Given the description of an element on the screen output the (x, y) to click on. 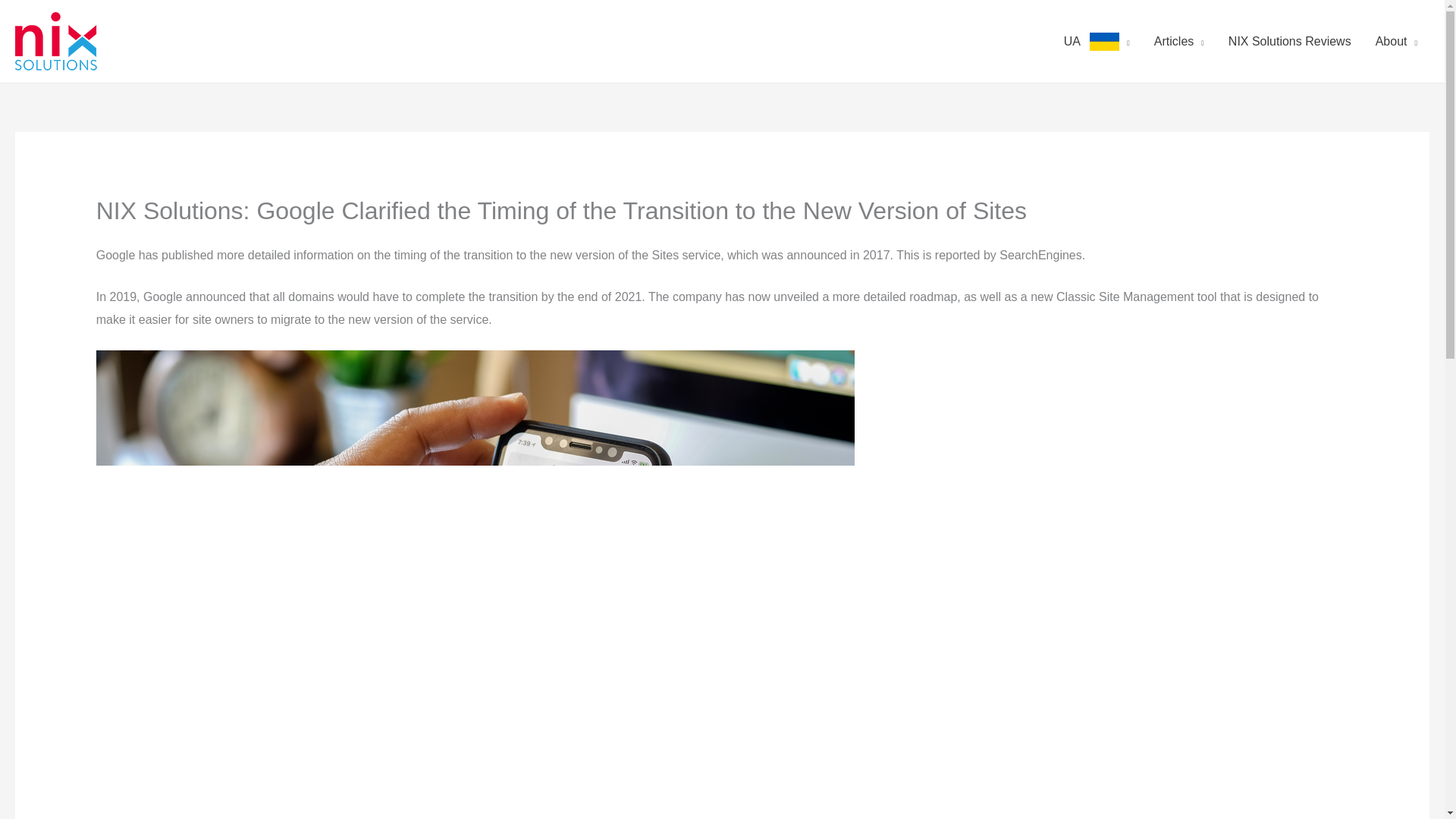
Ukrainian (1104, 41)
UA   (1096, 40)
Articles (1178, 40)
